Given the description of an element on the screen output the (x, y) to click on. 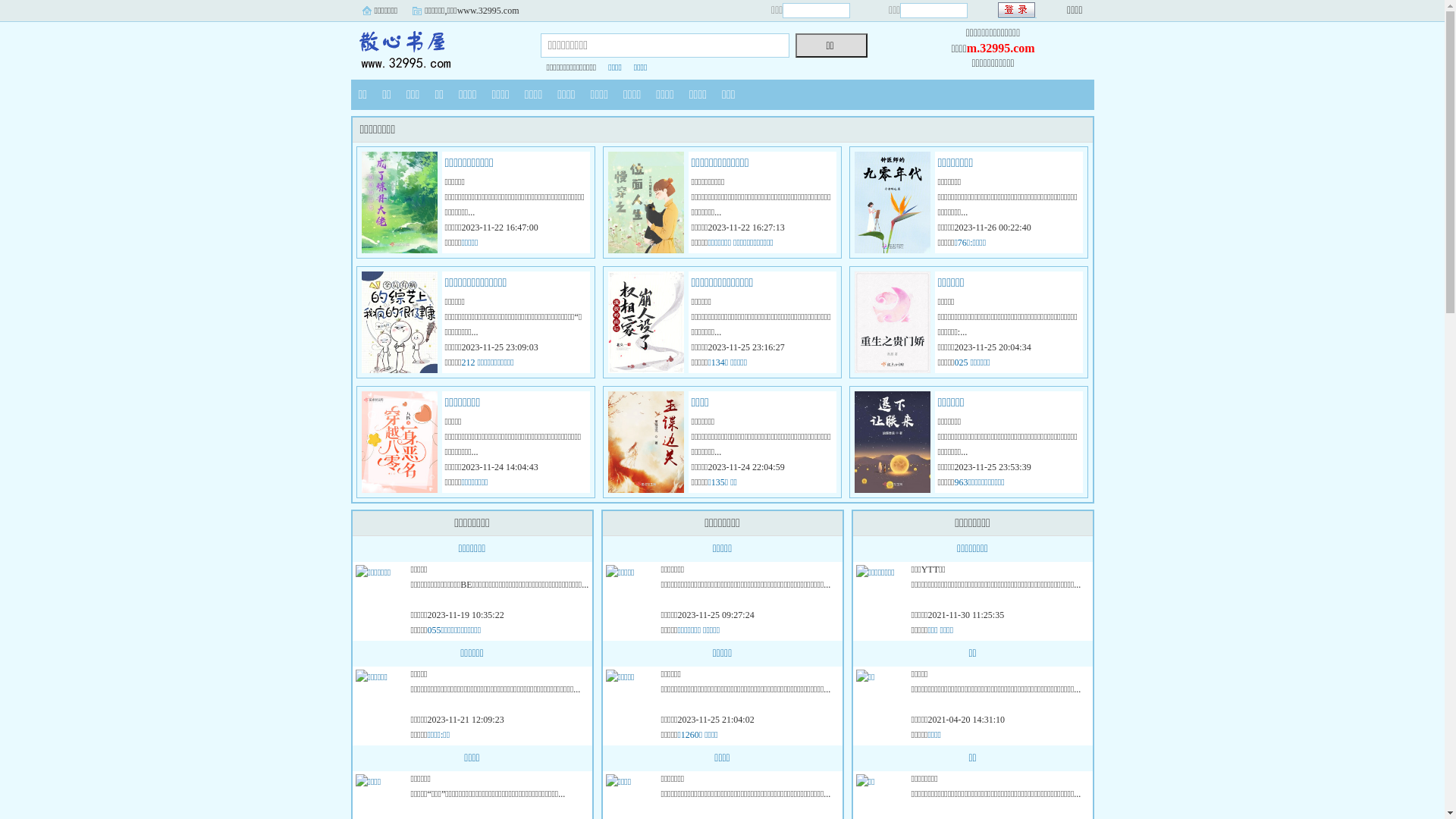
  Element type: text (1016, 10)
m.32995.com Element type: text (1000, 47)
